Given the description of an element on the screen output the (x, y) to click on. 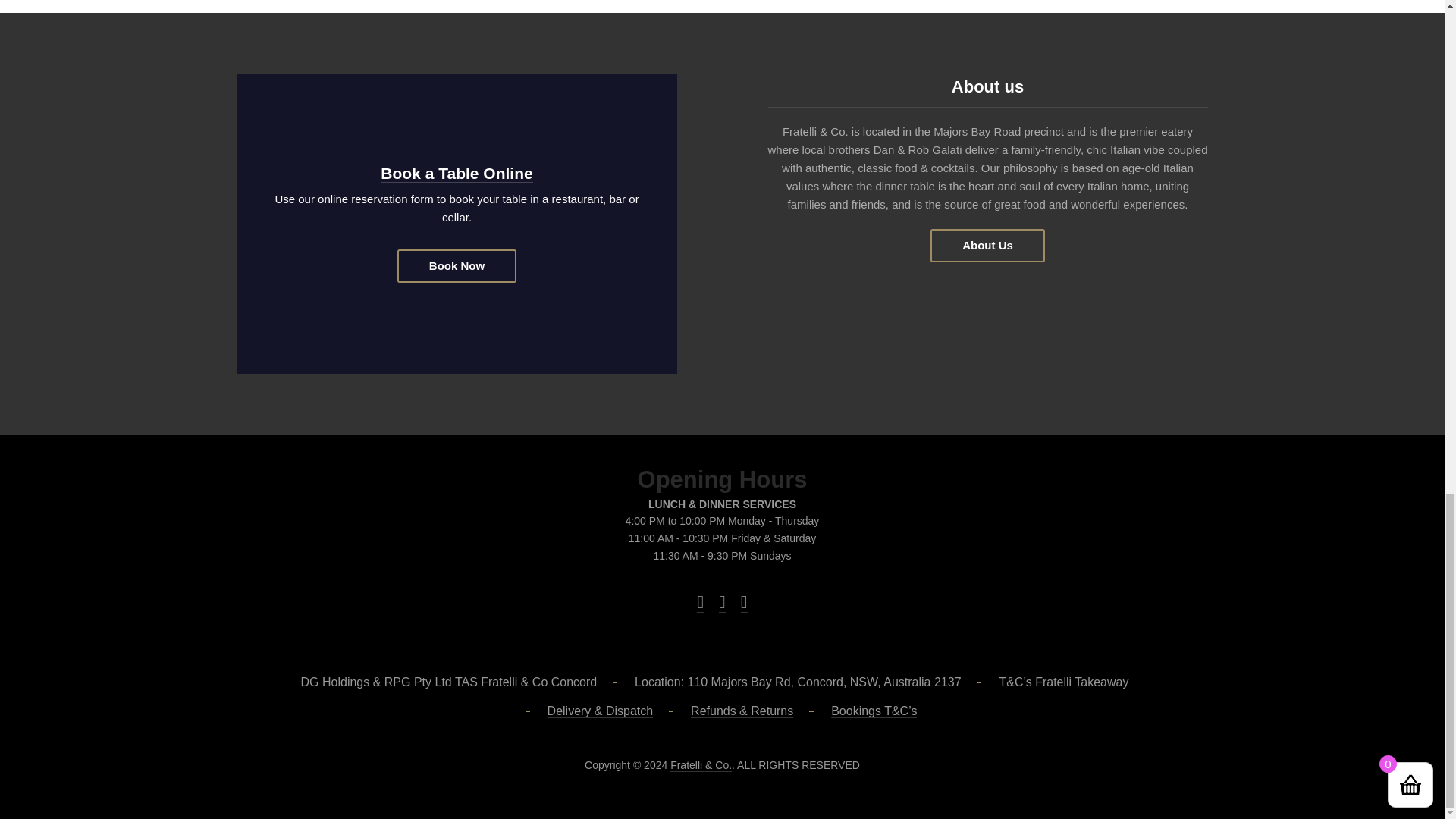
About Us (987, 245)
Location: 110 Majors Bay Rd, Concord, NSW, Australia 2137 (797, 682)
Book a Table Online (456, 173)
Book Now (456, 265)
